Given the description of an element on the screen output the (x, y) to click on. 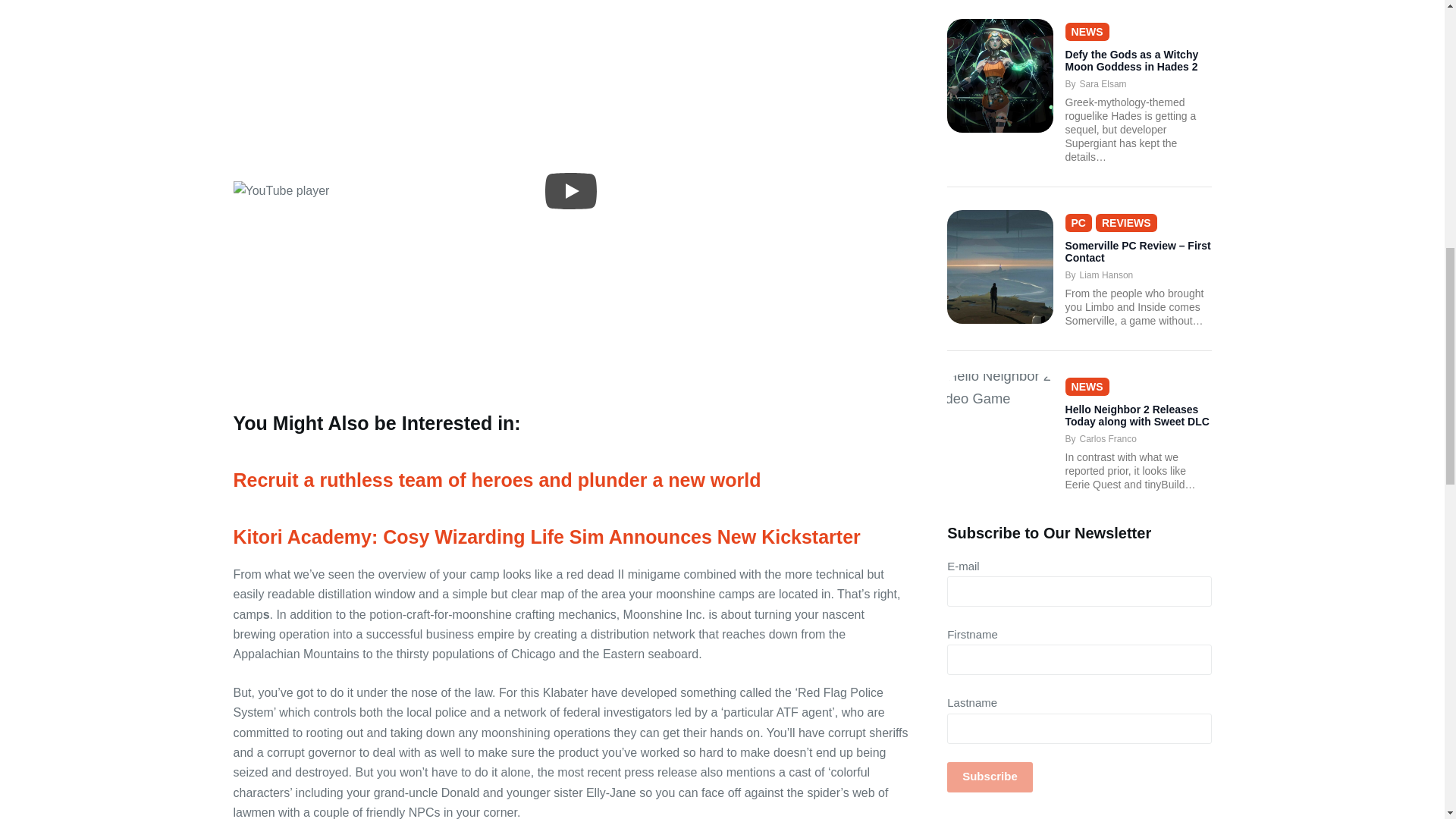
Recruit a ruthless team of heroes and plunder a new world (496, 479)
